Given the description of an element on the screen output the (x, y) to click on. 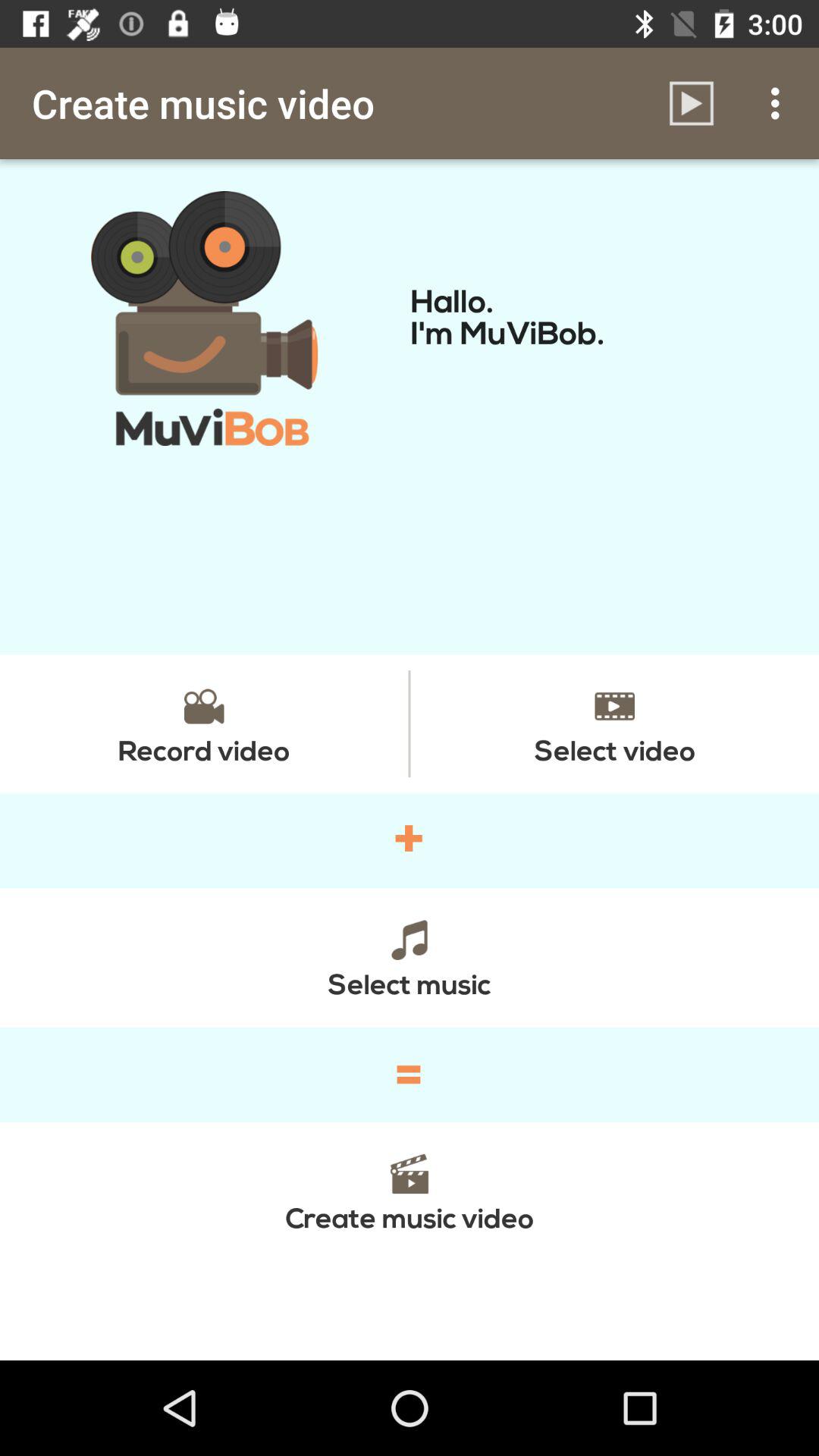
click the item above the + item (614, 723)
